Given the description of an element on the screen output the (x, y) to click on. 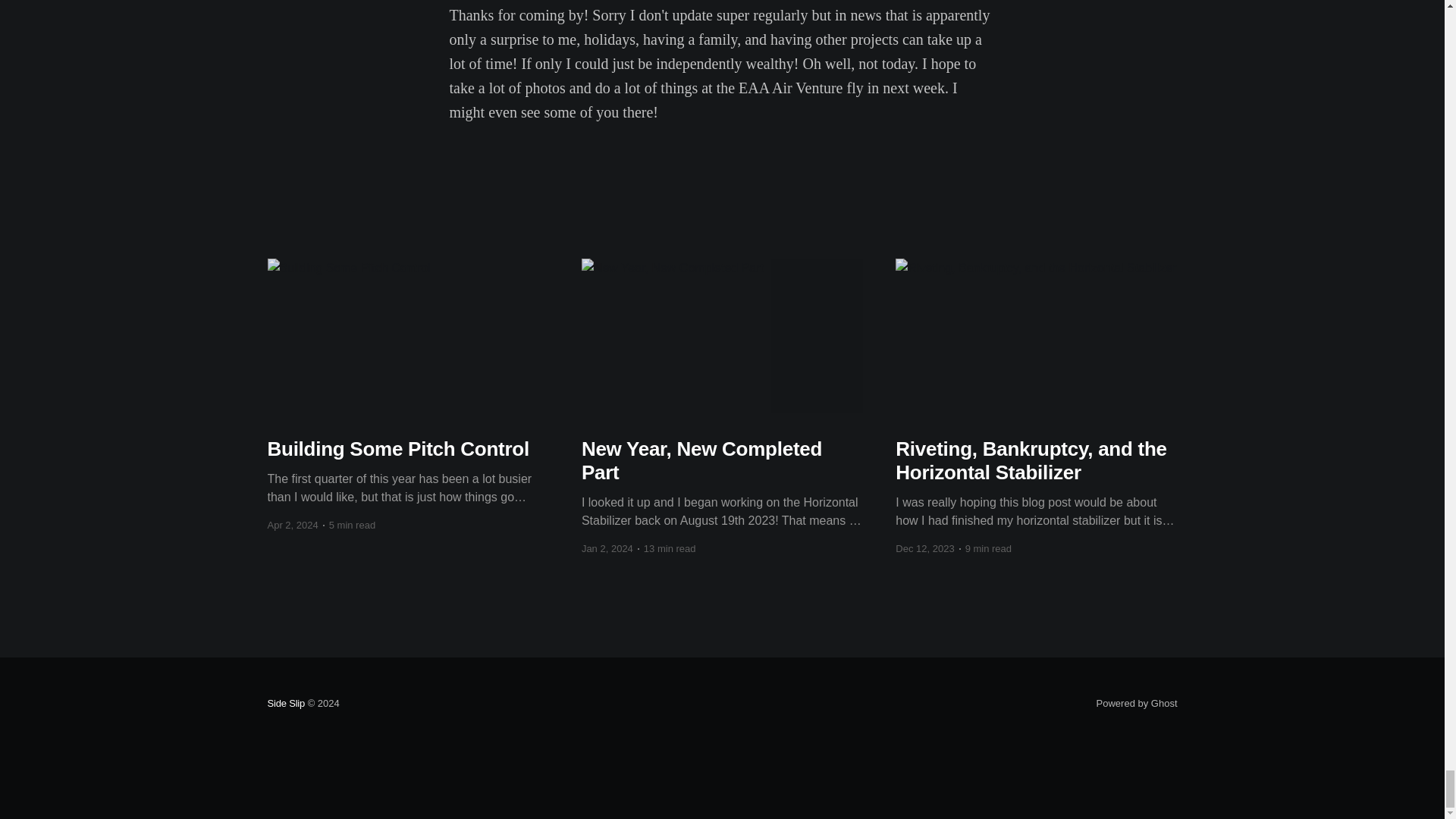
Powered by Ghost (1136, 703)
Side Slip (285, 703)
